Given the description of an element on the screen output the (x, y) to click on. 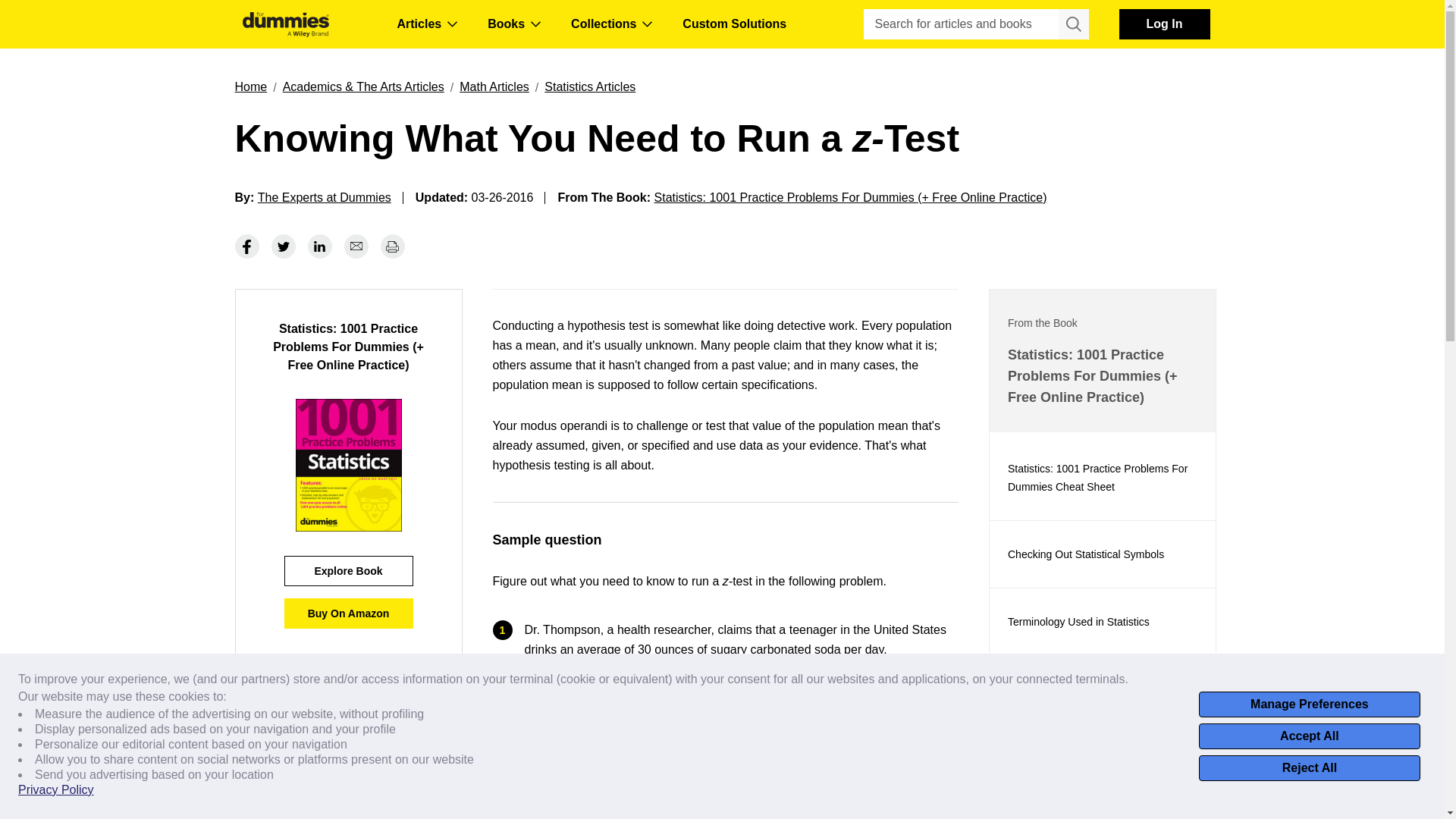
Privacy Policy (55, 789)
Accept All (1309, 736)
Reject All (1309, 768)
Manage Preferences (1309, 704)
Custom Solutions (734, 24)
